Given the description of an element on the screen output the (x, y) to click on. 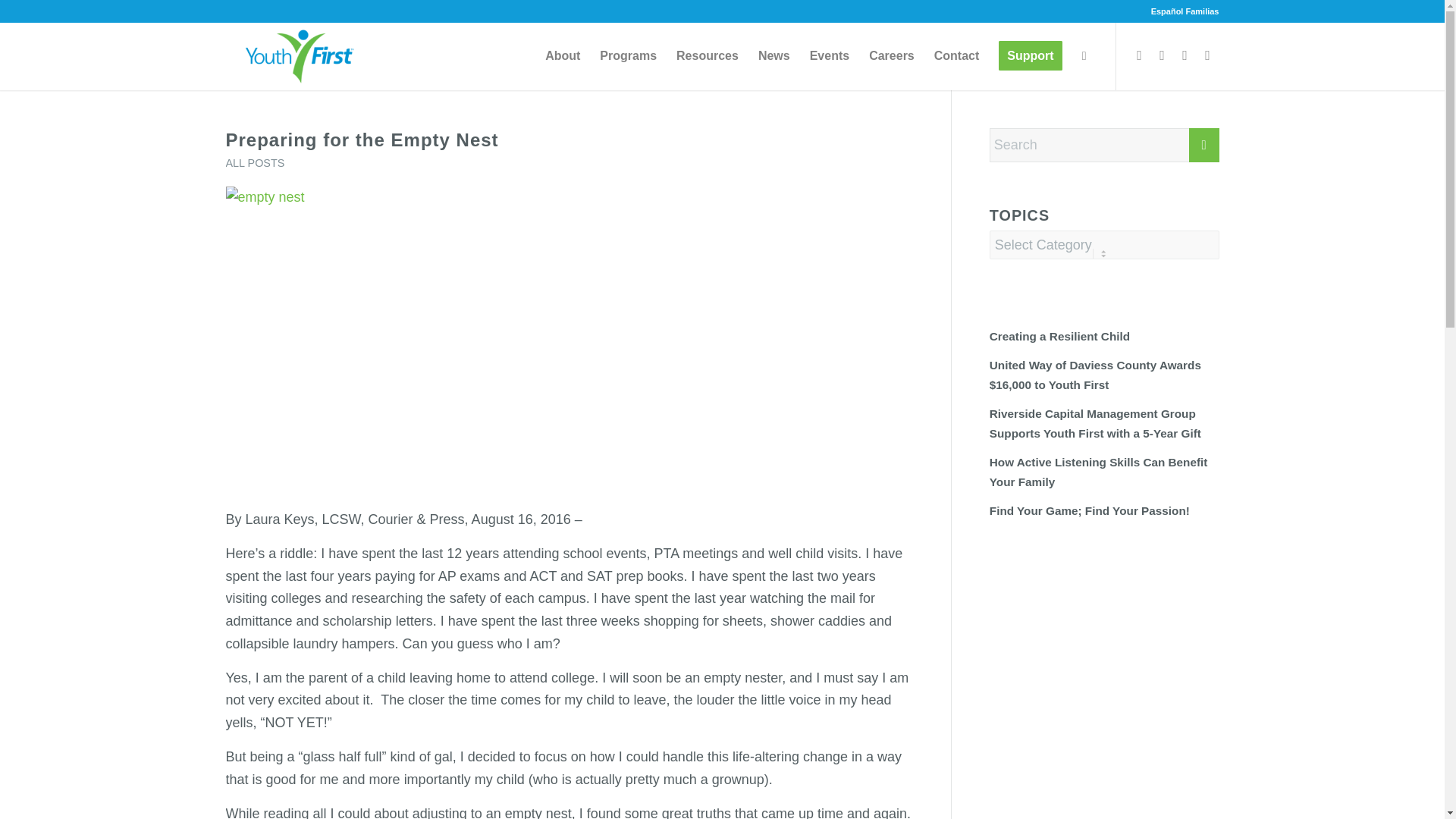
LinkedIn (1208, 55)
Instagram (1162, 55)
Youtube (1184, 55)
Facebook (1139, 55)
Programs (627, 56)
